Given the description of an element on the screen output the (x, y) to click on. 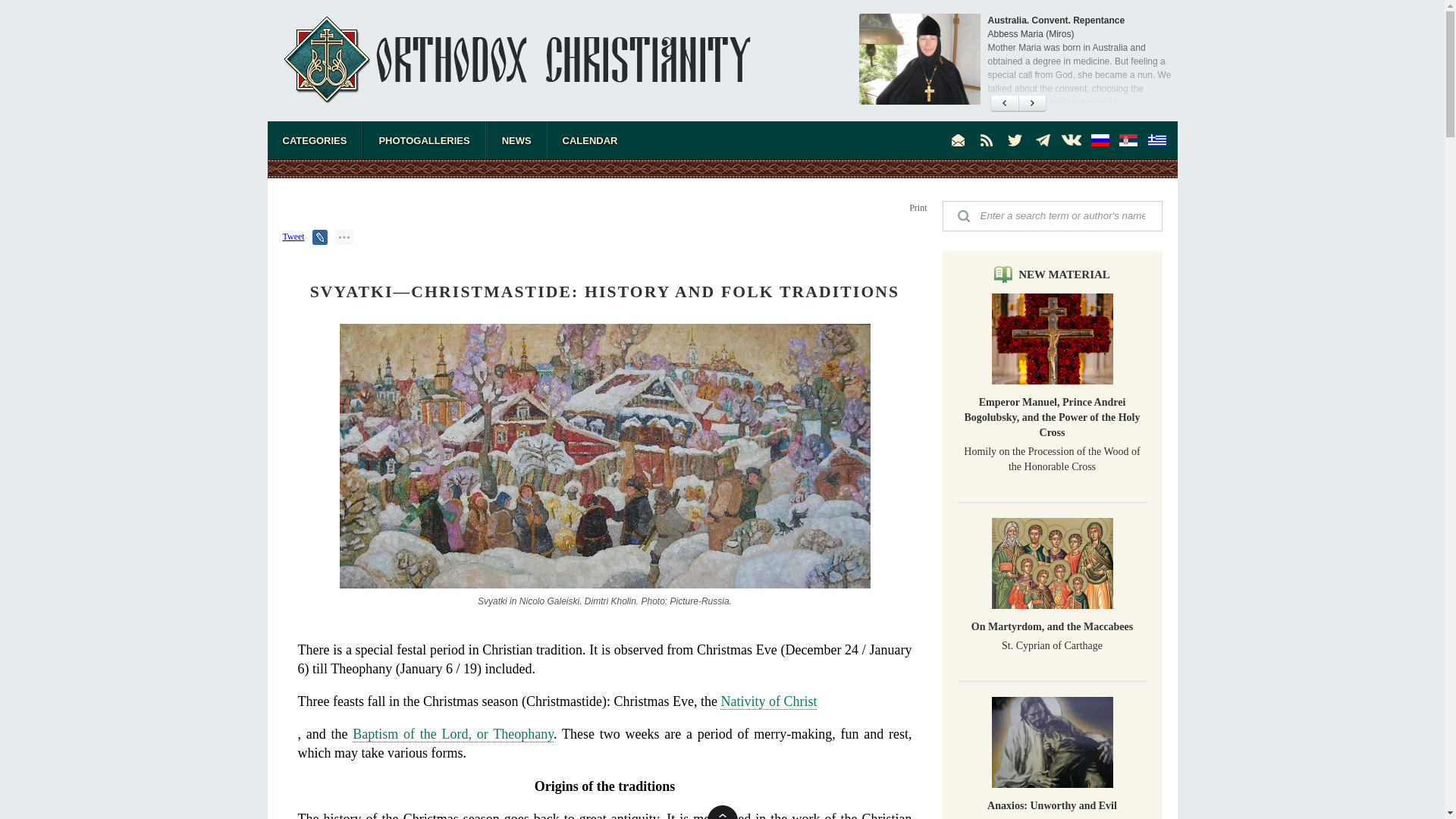
PHOTOGALLERIES (423, 139)
VKontakte (1071, 139)
Telegram (1043, 139)
CALENDAR (590, 139)
Tweet (293, 235)
Print (917, 207)
NEWS (516, 139)
Russian (1100, 139)
Twitter (1015, 139)
Greek (1155, 139)
